Given the description of an element on the screen output the (x, y) to click on. 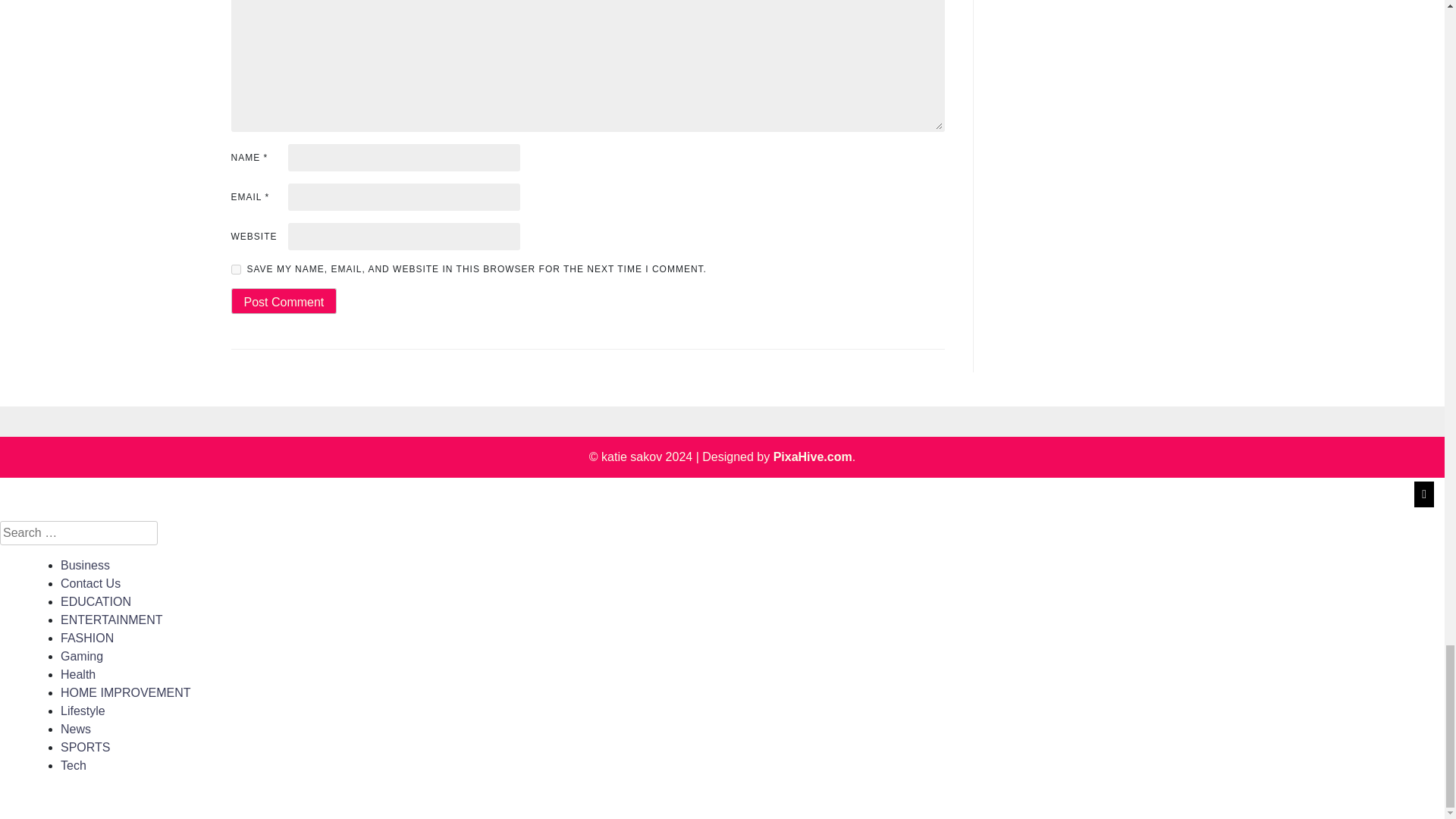
yes (235, 269)
Post Comment (283, 300)
Post Comment (283, 300)
